Given the description of an element on the screen output the (x, y) to click on. 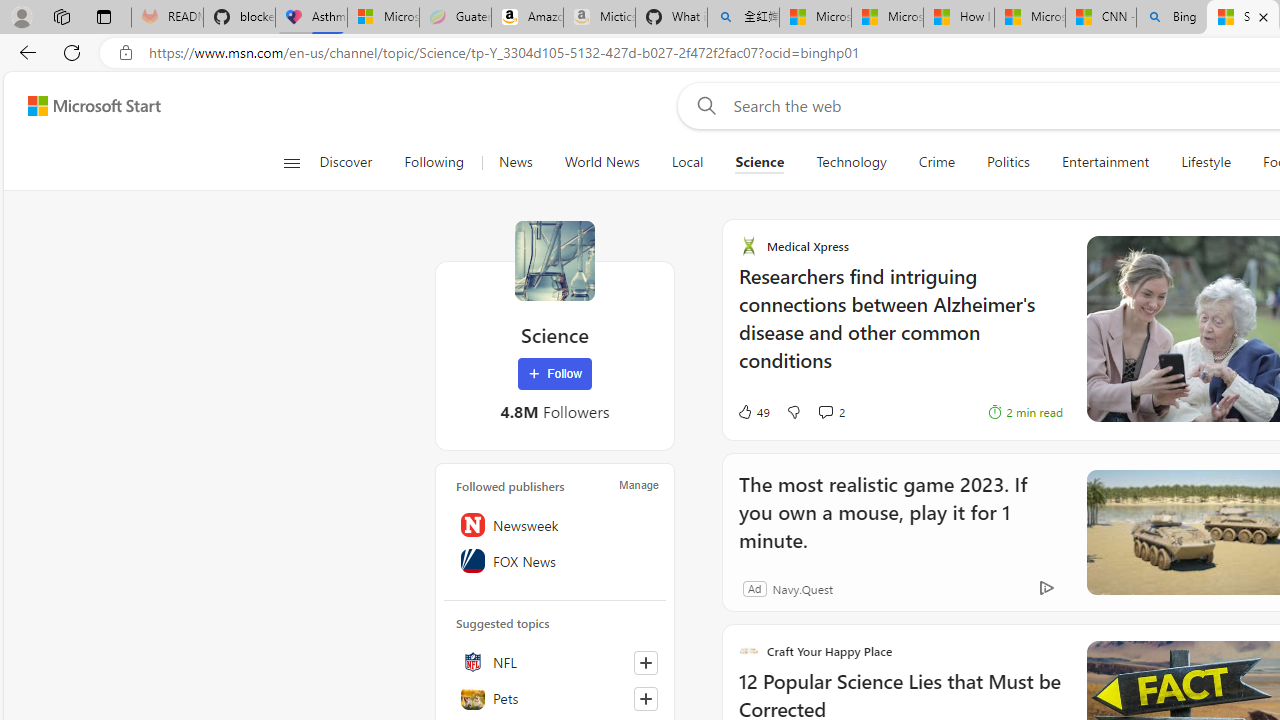
NFL (555, 661)
Politics (1008, 162)
Pets (555, 697)
Class: button-glyph (290, 162)
Tab actions menu (104, 16)
World News (602, 162)
Crime (936, 162)
Discover (353, 162)
View site information (125, 53)
Open navigation menu (291, 162)
CNN - MSN (1101, 17)
Navy.Quest (802, 588)
Ad Choice (1046, 588)
